Given the description of an element on the screen output the (x, y) to click on. 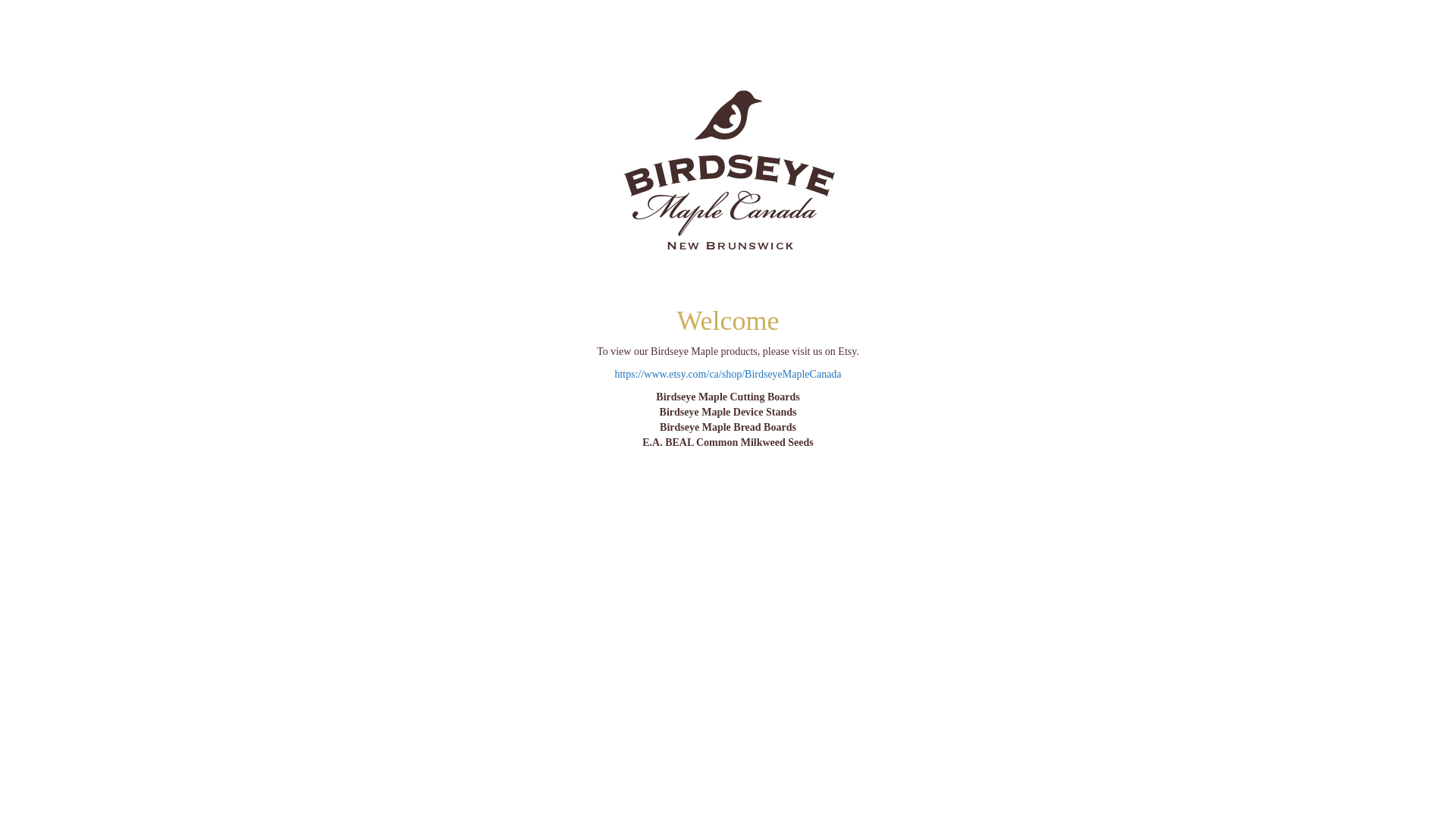
https://www.etsy.com/ca/shop/BirdseyeMapleCanada Element type: text (727, 373)
